Given the description of an element on the screen output the (x, y) to click on. 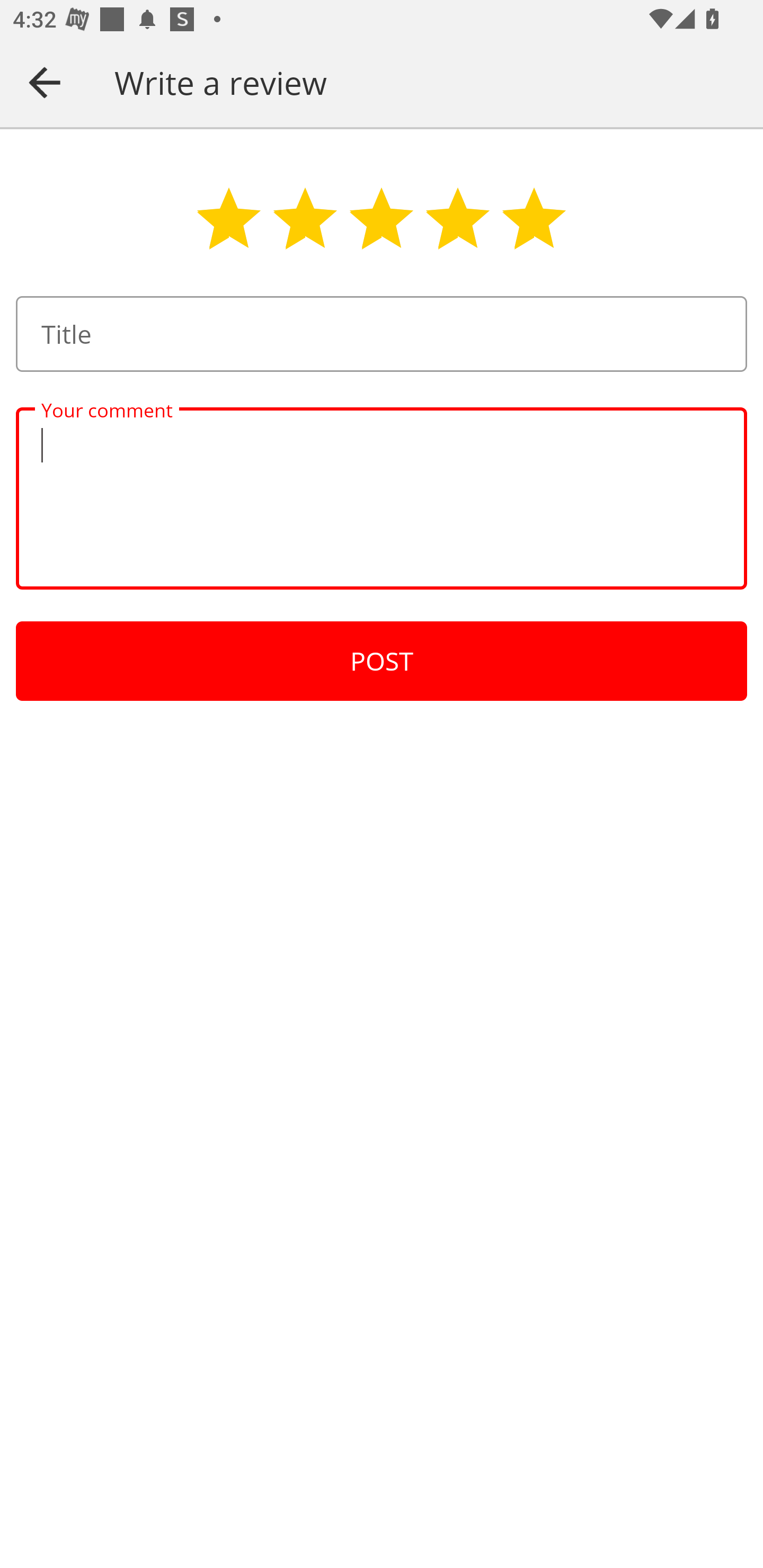
Navigate up (44, 82)
Title (381, 333)
Your comment (381, 498)
POST (381, 660)
